Given the description of an element on the screen output the (x, y) to click on. 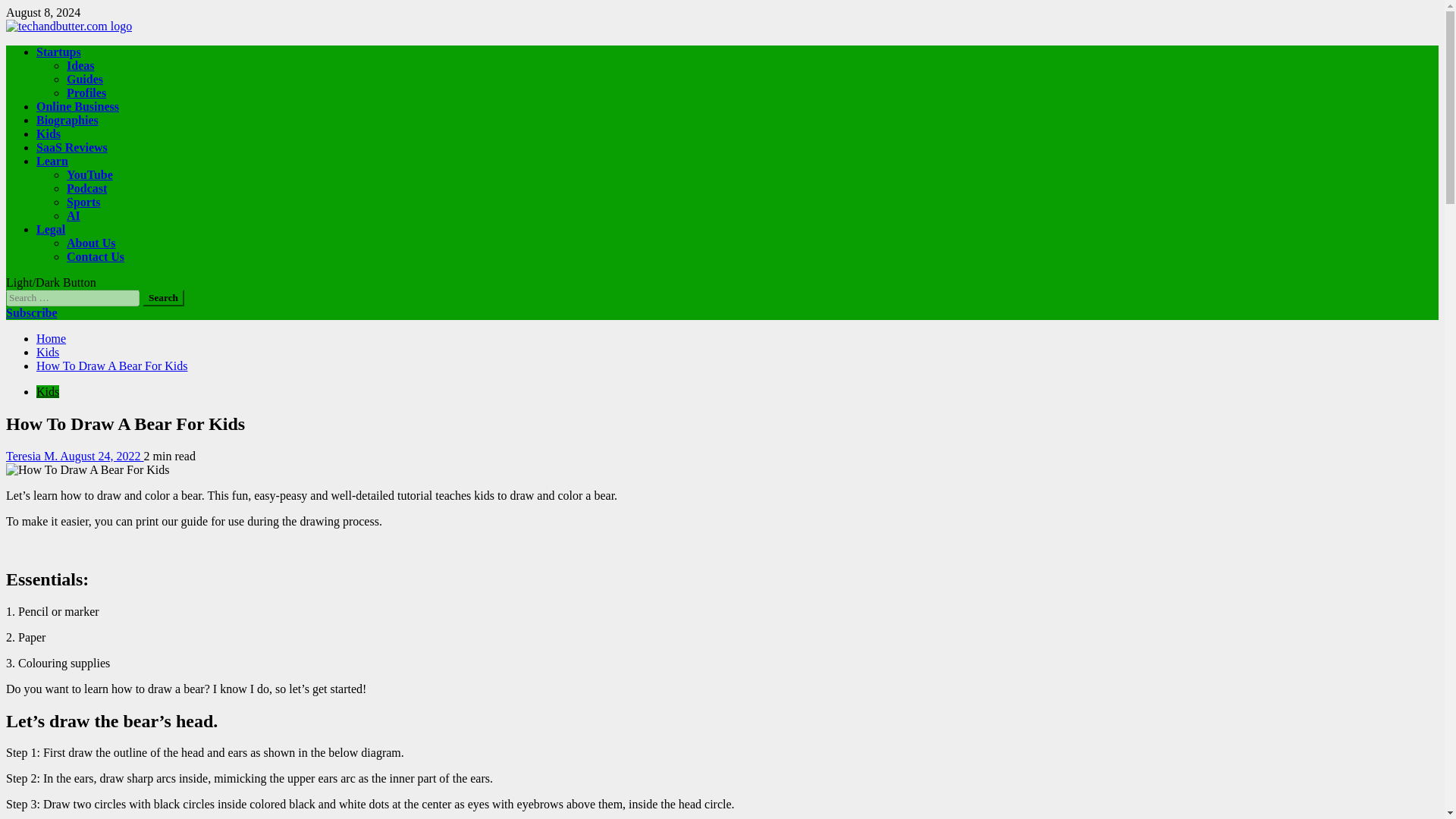
Teresia M. (32, 455)
YouTube (89, 174)
About Us (90, 242)
Subscribe (31, 312)
Sports (83, 201)
Legal (50, 228)
Podcast (86, 187)
Search (163, 297)
Ideas (80, 65)
Search (163, 297)
